Given the description of an element on the screen output the (x, y) to click on. 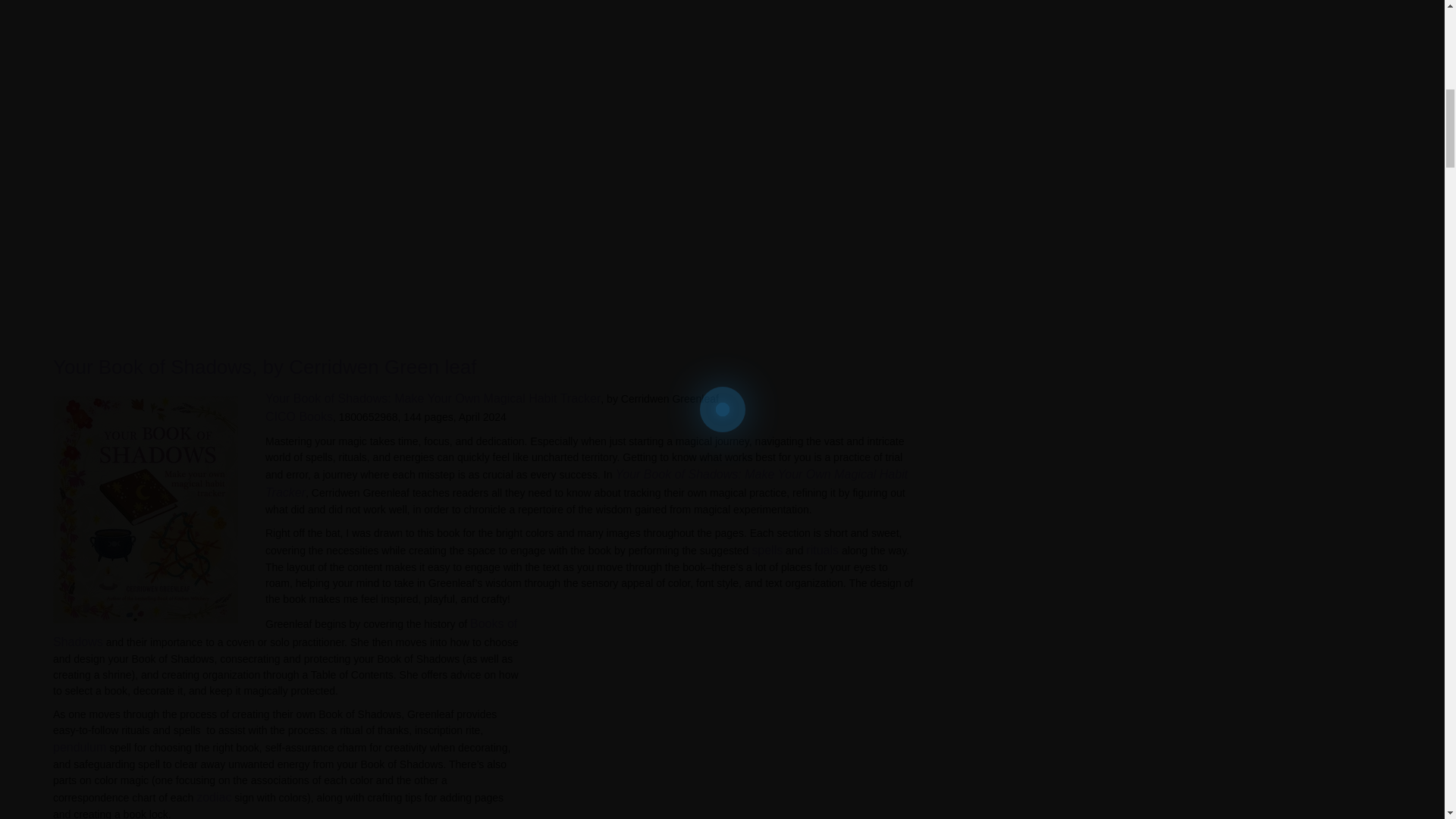
Permalink to Your Book of Shadows, by Cerridwen Green leaf (264, 366)
rituals (822, 549)
Books of Shadows (284, 632)
Your Book of Shadows: Make Your Own Magical Habit Tracker (585, 482)
CICO Books (298, 416)
pendulum (79, 747)
spells (767, 549)
Your Book of Shadows, by Cerridwen Green leaf (264, 366)
Your Book of Shadows: Make Your Own Magical Habit Tracker (431, 398)
zodiac (213, 797)
